Given the description of an element on the screen output the (x, y) to click on. 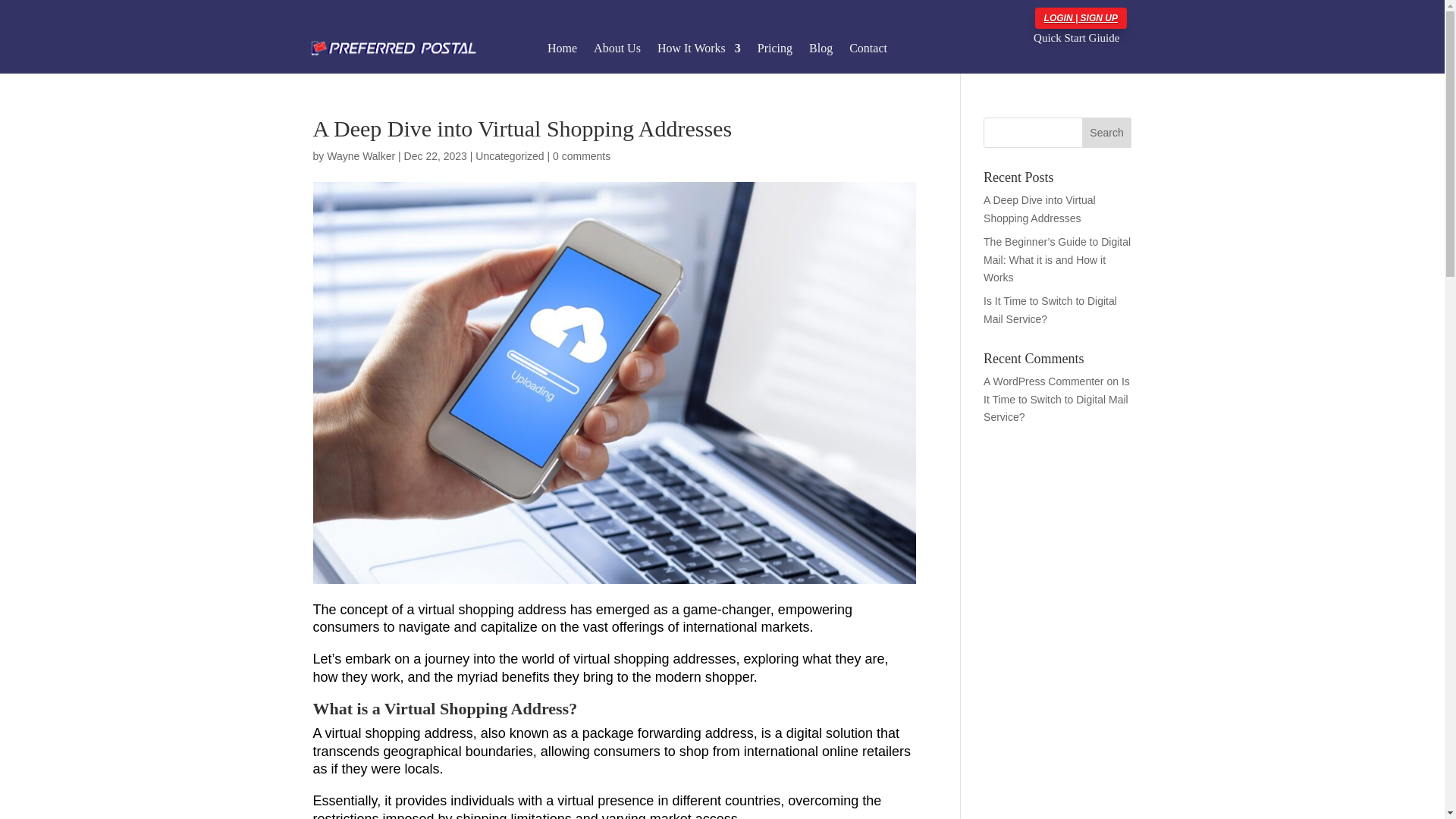
Is It Time to Switch to Digital Mail Service? (1056, 399)
Blog (820, 50)
About Us (617, 50)
0 comments (581, 155)
Search (1106, 132)
Uncategorized (509, 155)
Search (1106, 132)
Home (561, 50)
Contact (867, 50)
Posts by Wayne Walker (360, 155)
Pricing (774, 50)
A Deep Dive into Virtual Shopping Addresses (1040, 209)
Is It Time to Switch to Digital Mail Service? (1050, 309)
A WordPress Commenter (1043, 381)
Wayne Walker (360, 155)
